Given the description of an element on the screen output the (x, y) to click on. 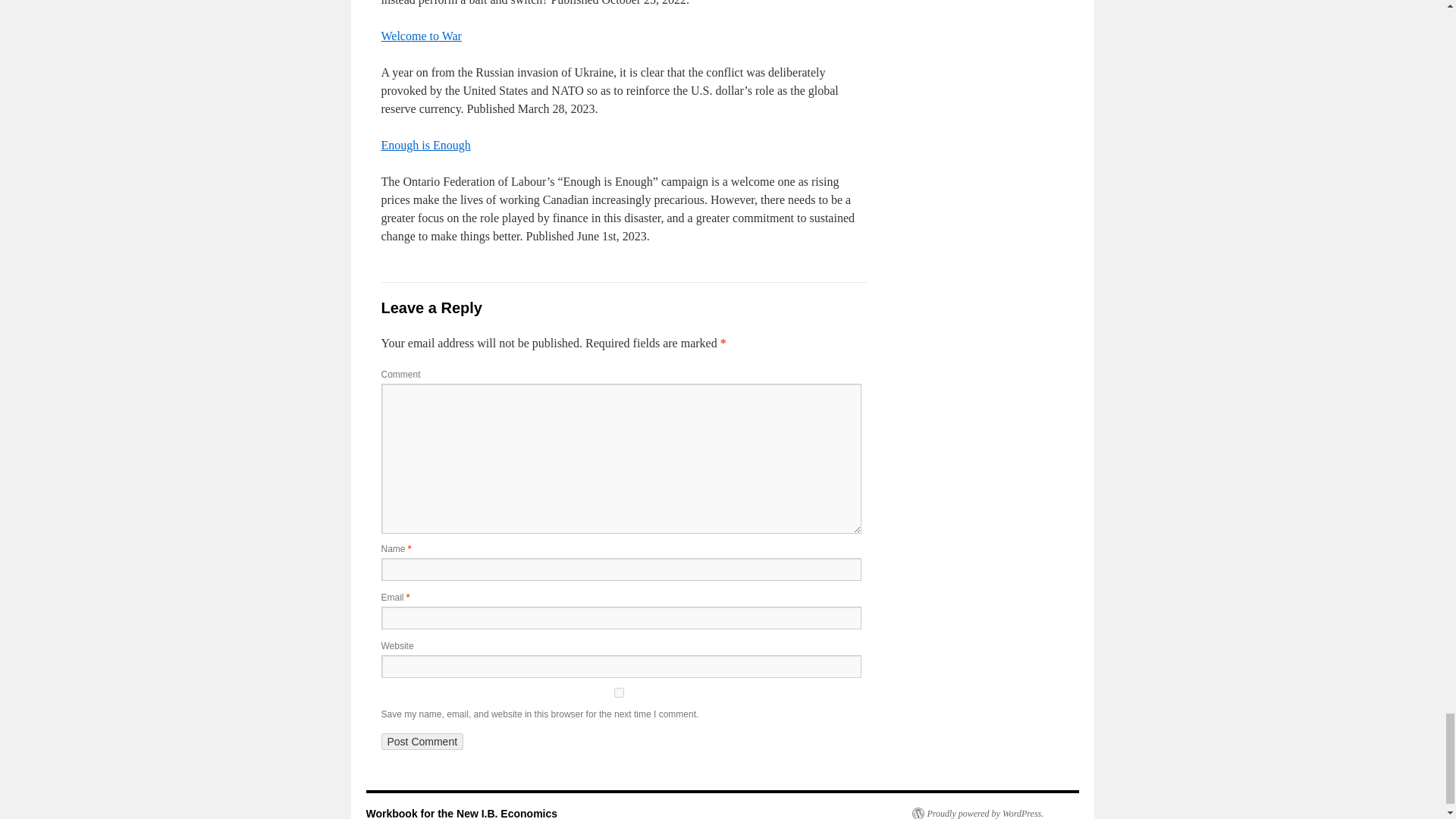
Post Comment (421, 741)
yes (618, 692)
